Given the description of an element on the screen output the (x, y) to click on. 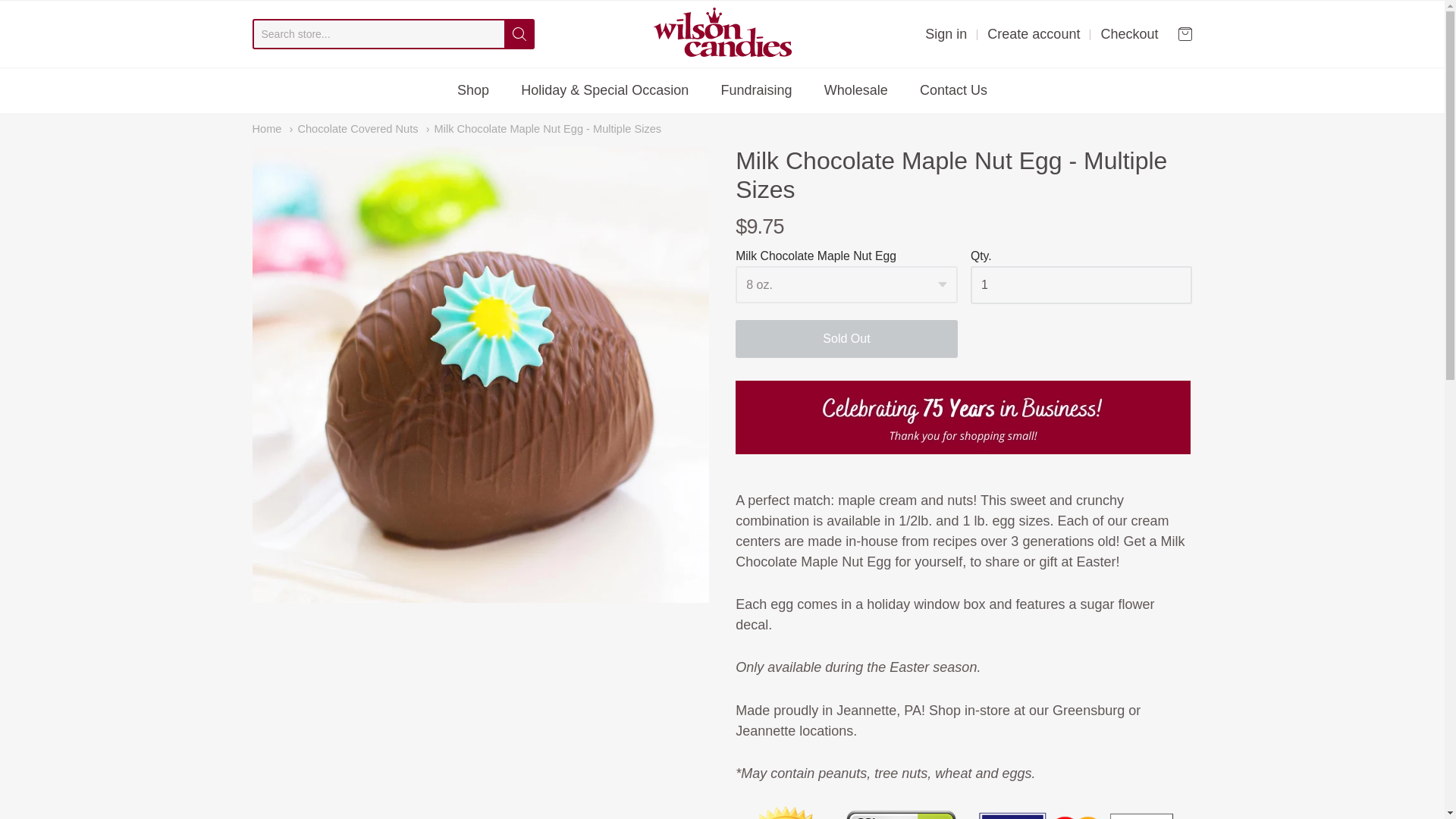
Sign in (945, 32)
Wilson Candy (722, 33)
Fundraising (756, 89)
Shop (473, 89)
Create account (1033, 32)
Milk Chocolate Maple Nut Egg - Multiple Sizes (544, 128)
1 (1081, 284)
Home (266, 128)
Chocolate Covered Nuts (354, 128)
